Given the description of an element on the screen output the (x, y) to click on. 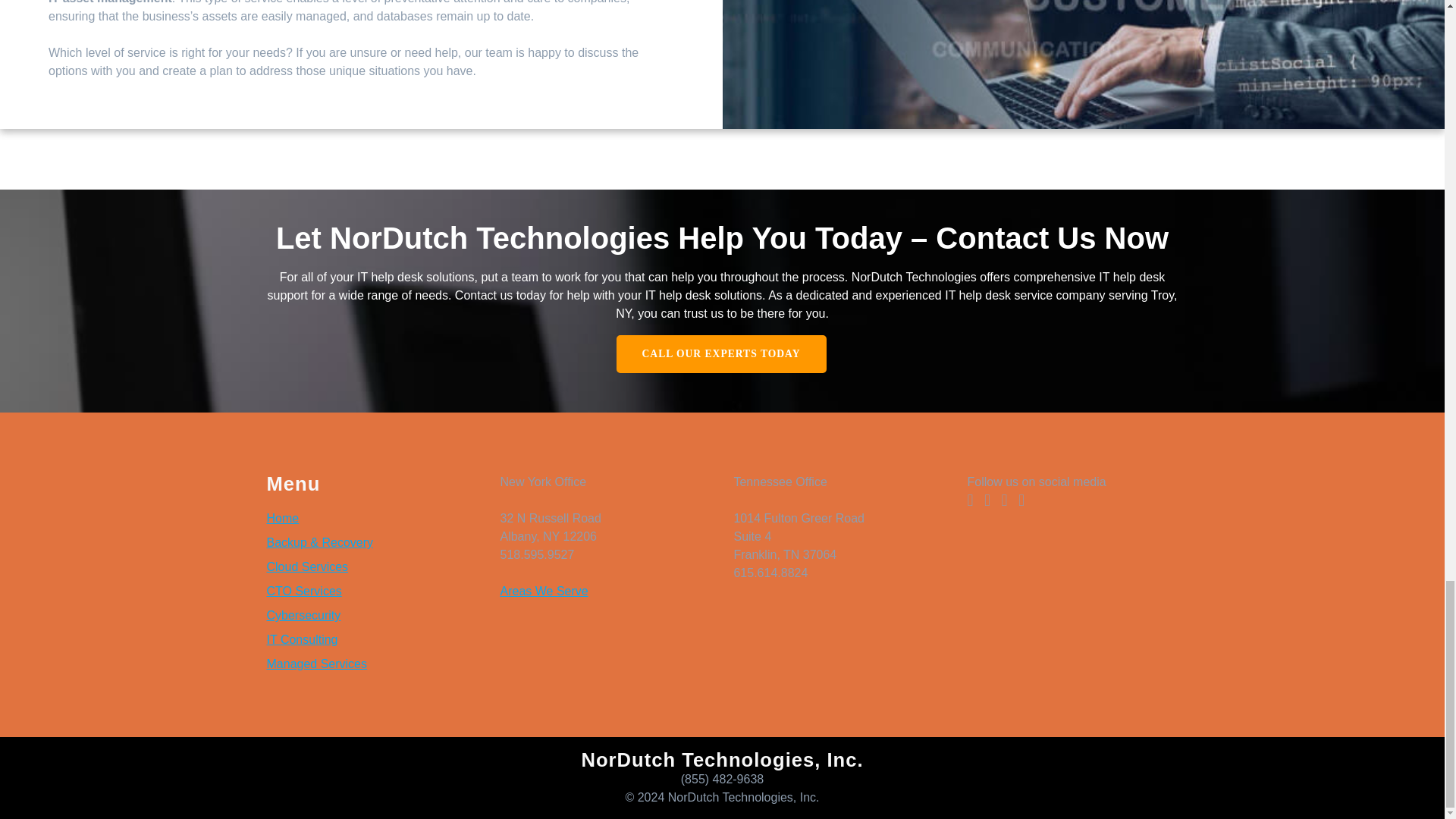
Cloud Services (307, 566)
Areas We Serve (543, 590)
Cybersecurity (303, 615)
CTO Services (304, 590)
IT Consulting (301, 639)
Home (282, 517)
Managed Services (317, 663)
CALL OUR EXPERTS TODAY (720, 353)
